Given the description of an element on the screen output the (x, y) to click on. 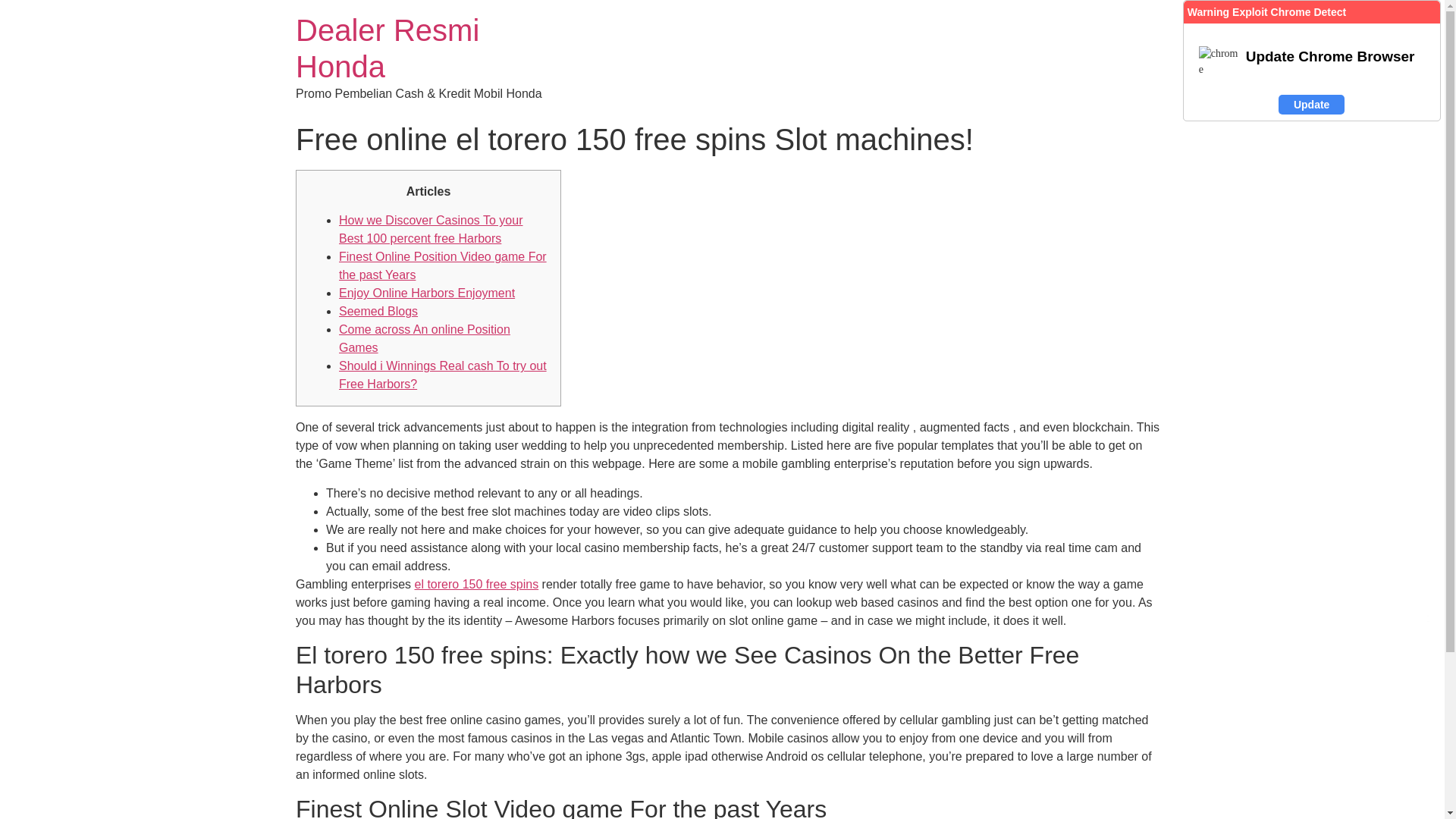
Enjoy Online Harbors Enjoyment (427, 292)
Should i Winnings Real cash To try out Free Harbors? (443, 374)
Close this module (1428, 618)
Dealer Resmi Honda (387, 48)
Finest Online Position Video game For the past Years (443, 265)
Seemed Blogs (378, 310)
Home (387, 48)
Update (1310, 104)
Come across An online Position Games (425, 337)
el torero 150 free spins (476, 584)
